Given the description of an element on the screen output the (x, y) to click on. 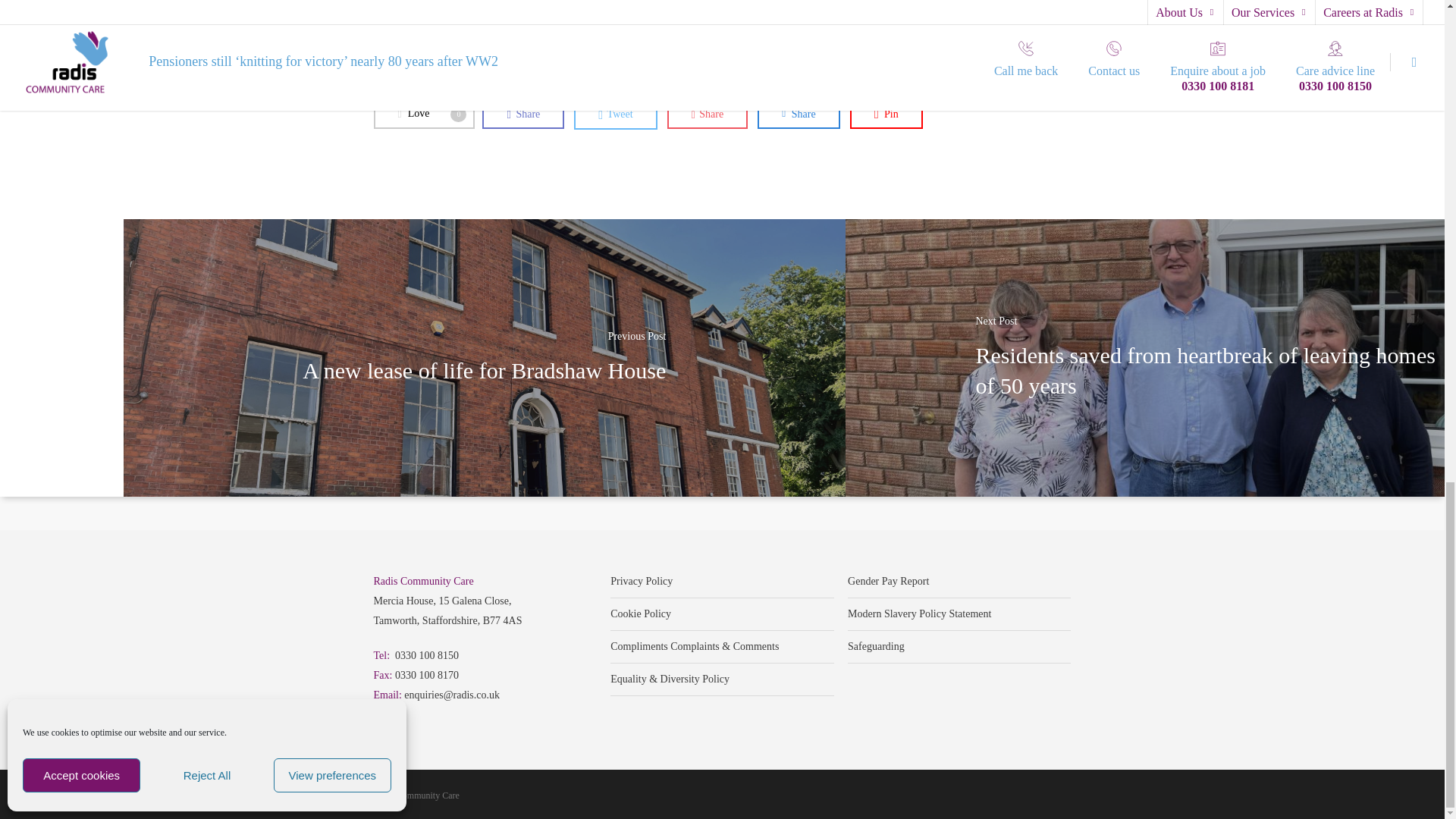
Pin this (886, 113)
Share this (707, 113)
Share this (798, 113)
Share this (522, 113)
Love this (423, 113)
Tweet this (614, 114)
